Given the description of an element on the screen output the (x, y) to click on. 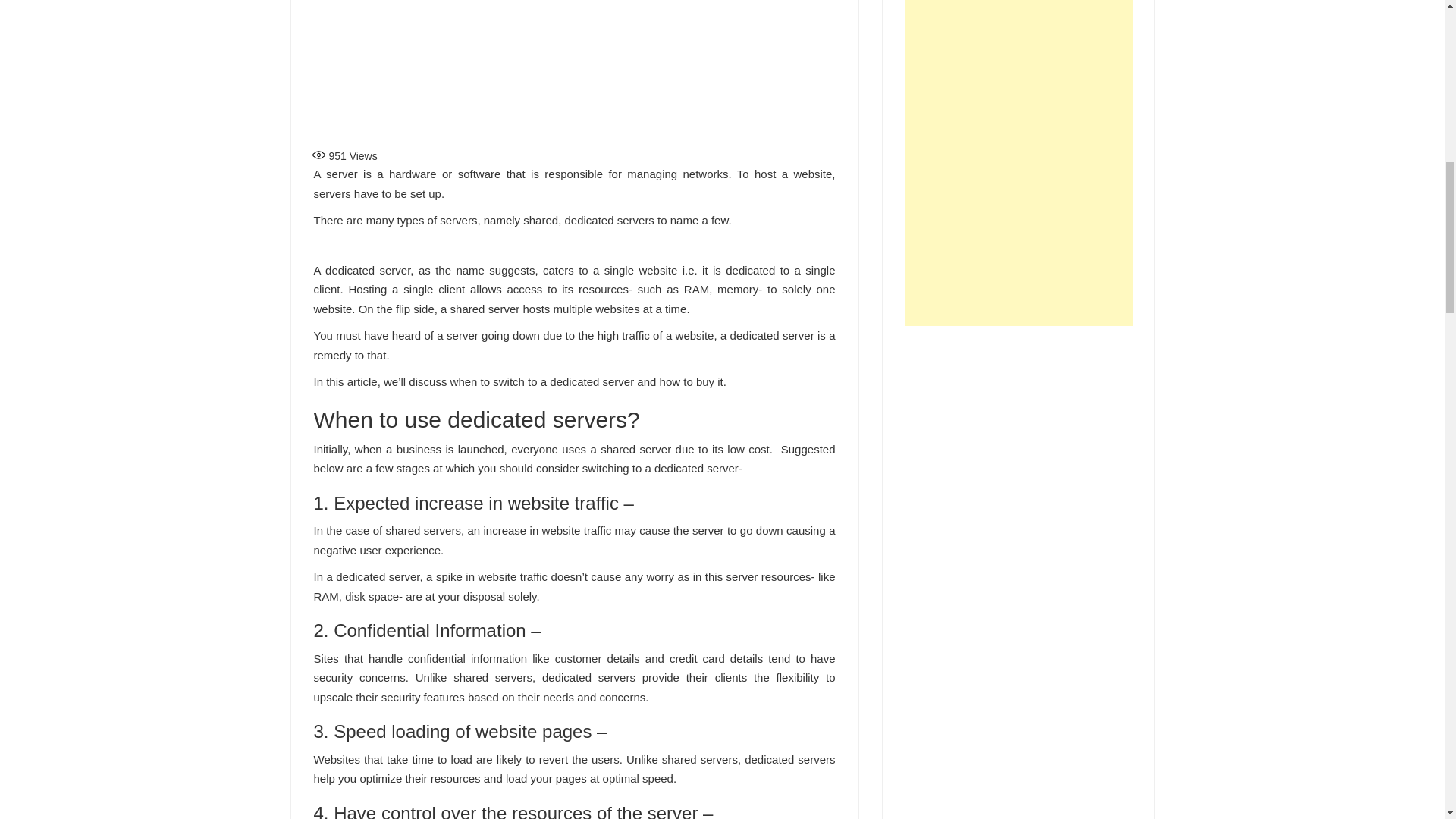
Advertisement (1018, 566)
Advertisement (574, 71)
